Given the description of an element on the screen output the (x, y) to click on. 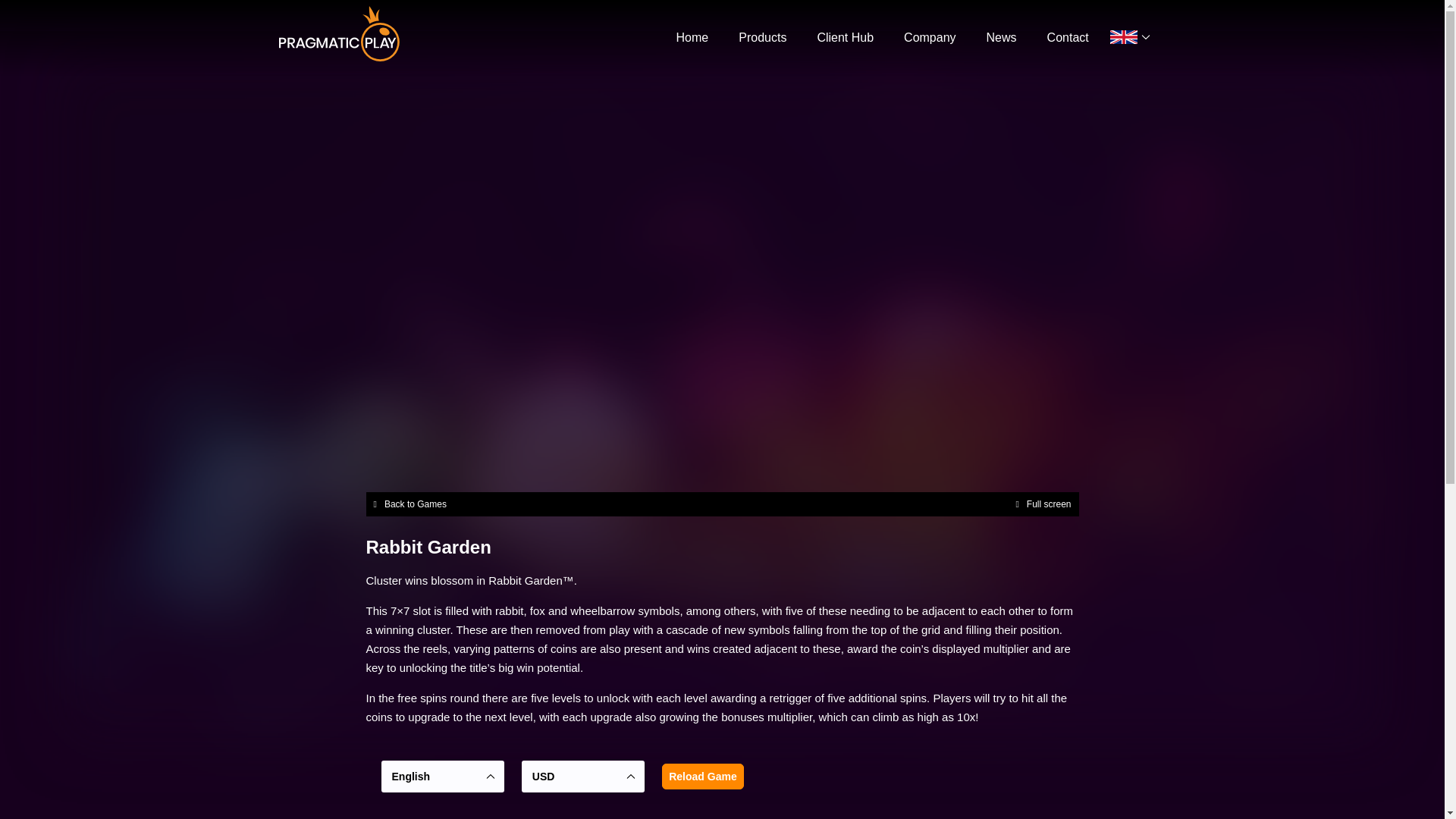
Games (762, 37)
Home (693, 37)
Client Hub (844, 37)
News (1001, 37)
Products (762, 37)
Company (929, 37)
Home (693, 37)
